Given the description of an element on the screen output the (x, y) to click on. 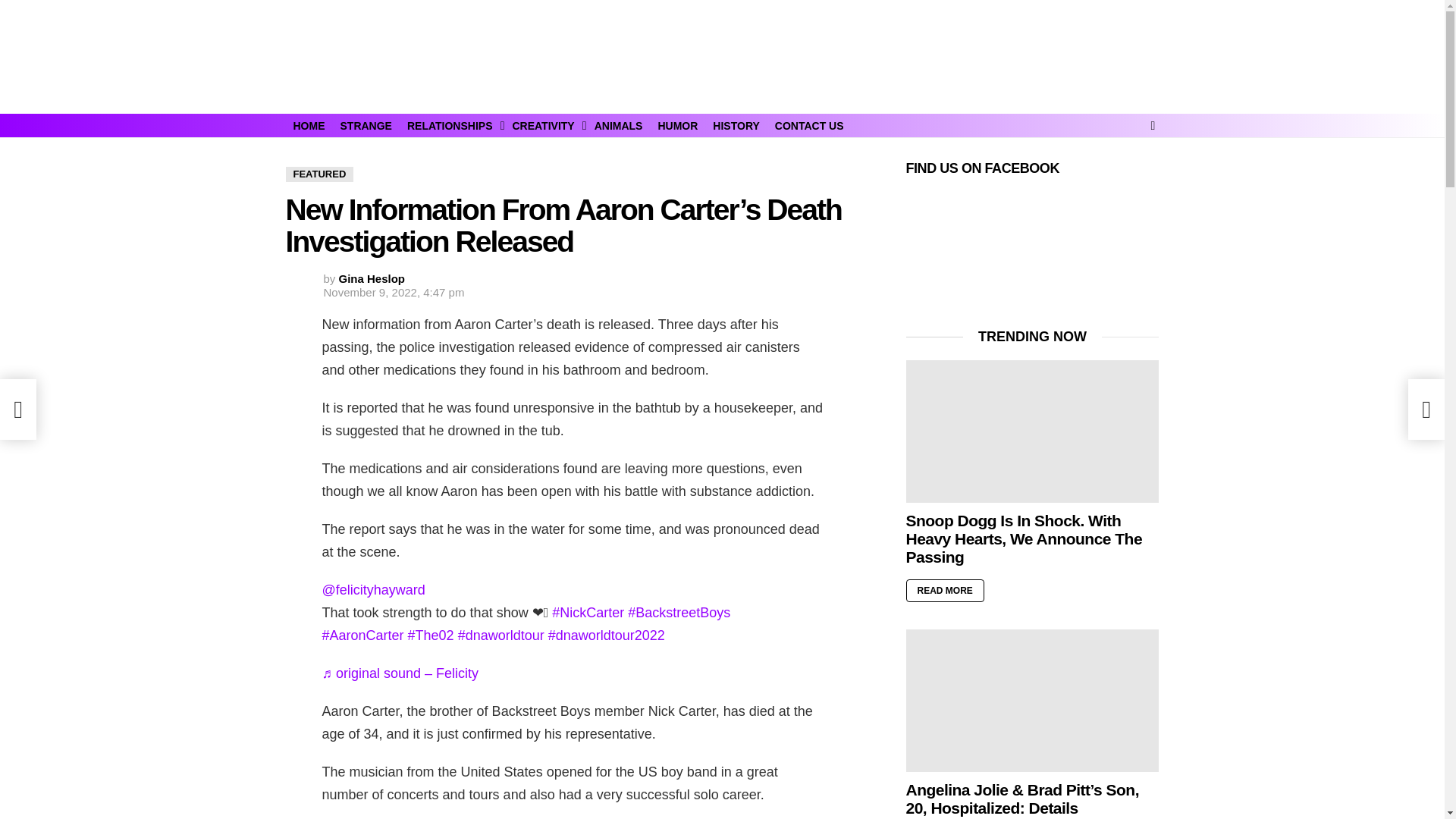
RELATIONSHIPS (451, 125)
ANIMALS (618, 125)
HUMOR (676, 125)
Posts by Gina Heslop (372, 278)
Gina Heslop (372, 278)
the02 (430, 635)
dnaworldtour2022 (606, 635)
CREATIVITY (544, 125)
HOME (308, 125)
nickcarter (587, 612)
HISTORY (735, 125)
aaroncarter (362, 635)
CONTACT US (809, 125)
dnaworldtour (501, 635)
